Given the description of an element on the screen output the (x, y) to click on. 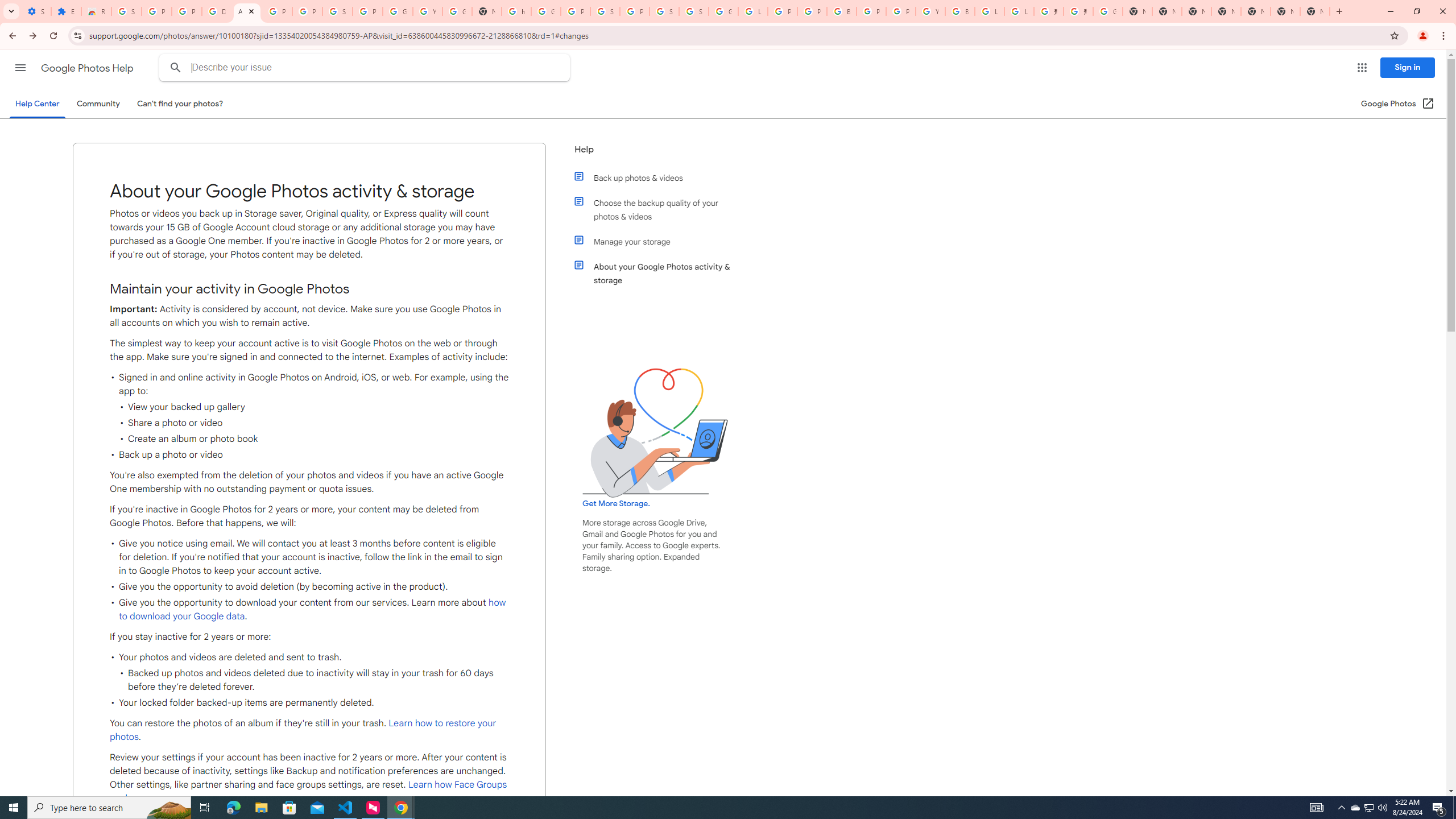
Google Images (1107, 11)
YouTube (930, 11)
Delete photos & videos - Computer - Google Photos Help (216, 11)
Back up photos & videos (661, 177)
New Tab (1226, 11)
Describe your issue (366, 67)
Manage your storage (661, 241)
Google Photos Help (87, 68)
